Given the description of an element on the screen output the (x, y) to click on. 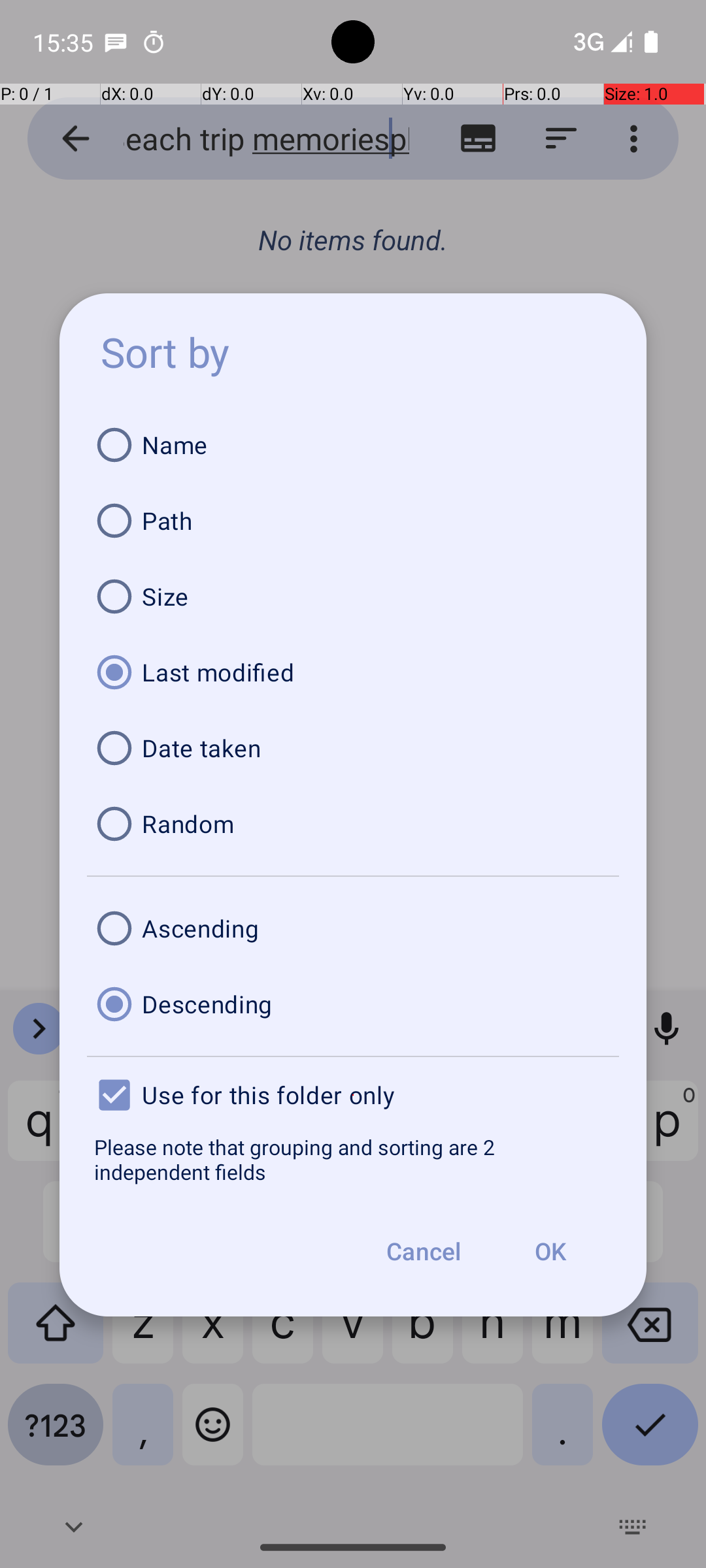
Use for this folder only Element type: android.widget.CheckBox (352, 1094)
Please note that grouping and sorting are 2 independent fields Element type: android.widget.TextView (352, 1158)
Path Element type: android.widget.RadioButton (352, 520)
Last modified Element type: android.widget.RadioButton (352, 672)
Date taken Element type: android.widget.RadioButton (352, 747)
Random Element type: android.widget.RadioButton (352, 823)
